Given the description of an element on the screen output the (x, y) to click on. 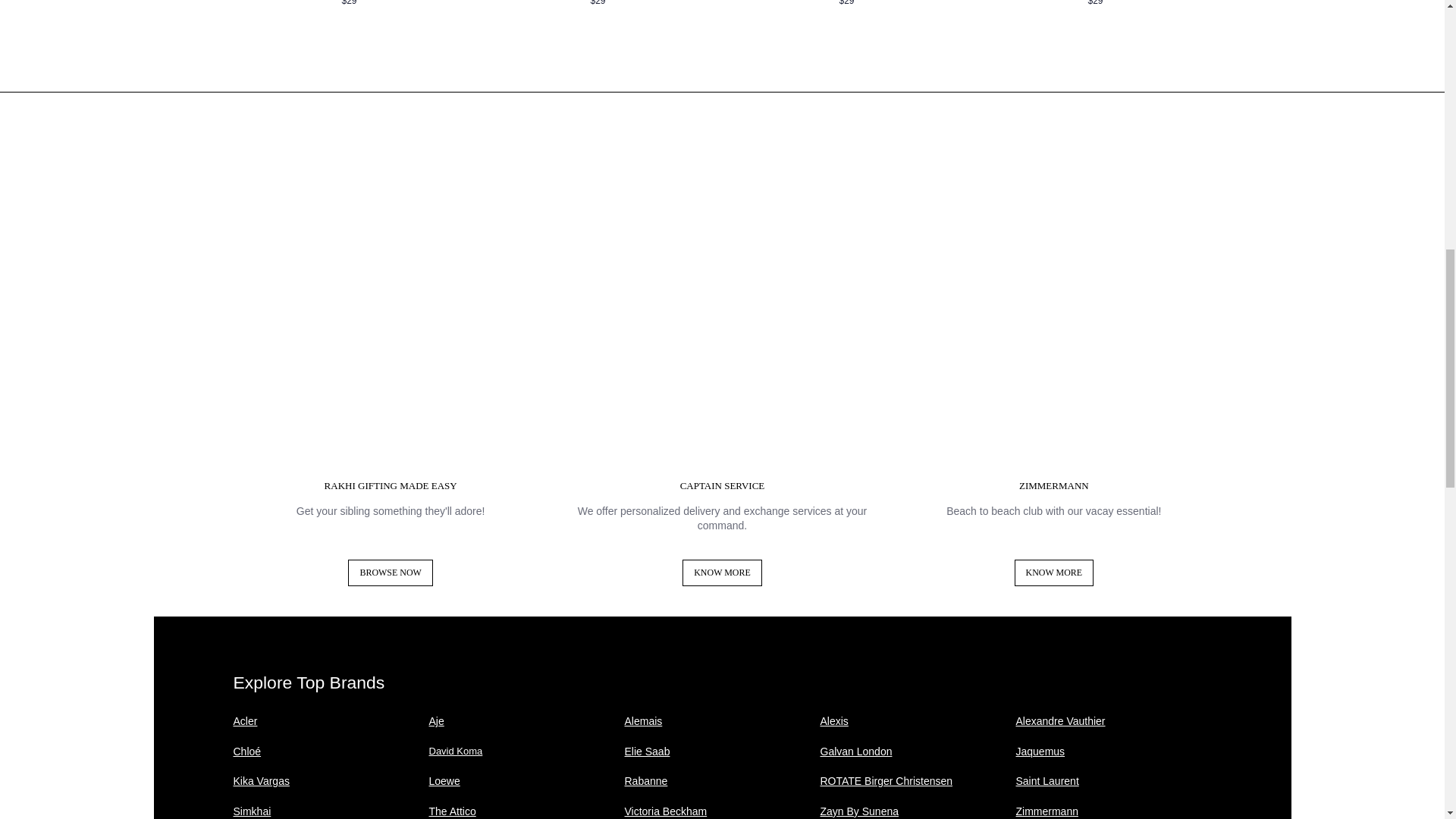
Kika Vargas (260, 780)
Loewe (444, 780)
Galvan London (856, 751)
The Attico (452, 811)
Aje (436, 720)
Victoria Beckham (665, 811)
Simkhai (251, 811)
Alexis (834, 720)
Jacquemus (1040, 751)
Alexandre Vauthier (1060, 720)
ROTATE Birger Christensen (887, 780)
